Given the description of an element on the screen output the (x, y) to click on. 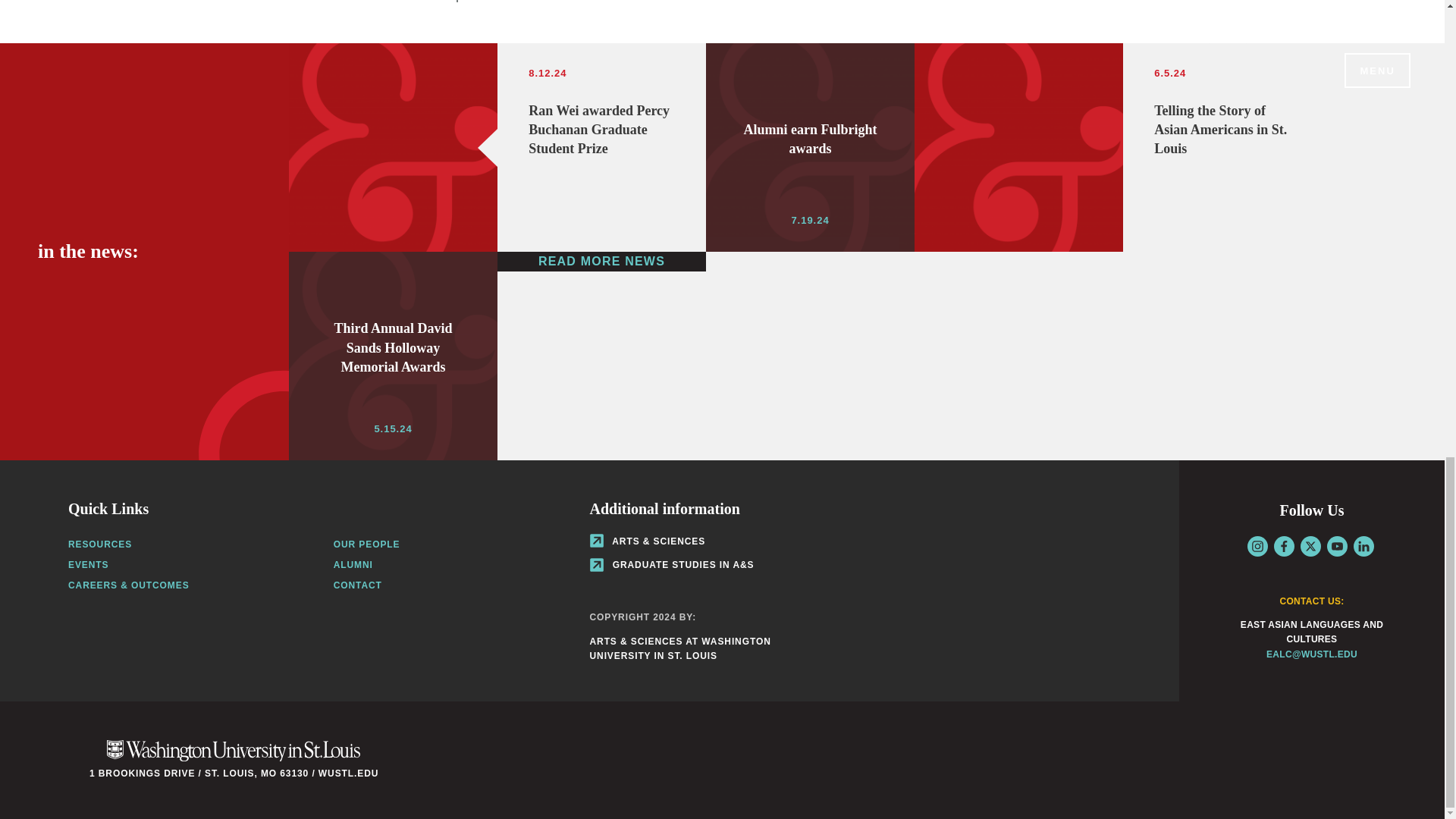
BACK TO ALL (504, 1)
Facebook (1284, 546)
EVENTS (87, 564)
JUMP TO TOP (810, 147)
READ MORE NEWS (410, 1)
Twitter (601, 261)
RESOURCES (1310, 546)
CONTACT (100, 543)
